Given the description of an element on the screen output the (x, y) to click on. 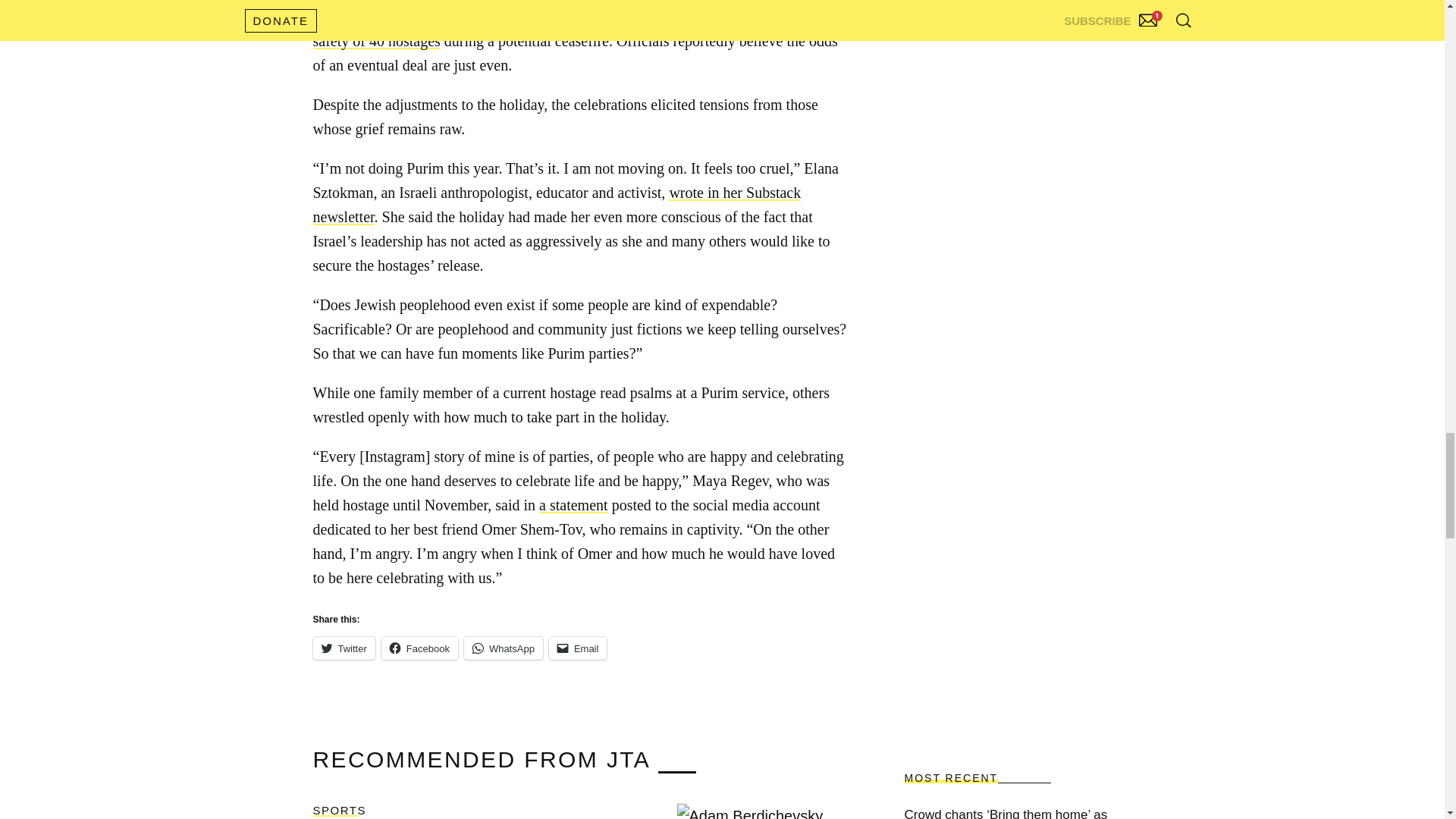
Click to share on WhatsApp (503, 648)
Click to share on Facebook (419, 648)
Click to share on Twitter (343, 648)
Click to email a link to a friend (577, 648)
